Given the description of an element on the screen output the (x, y) to click on. 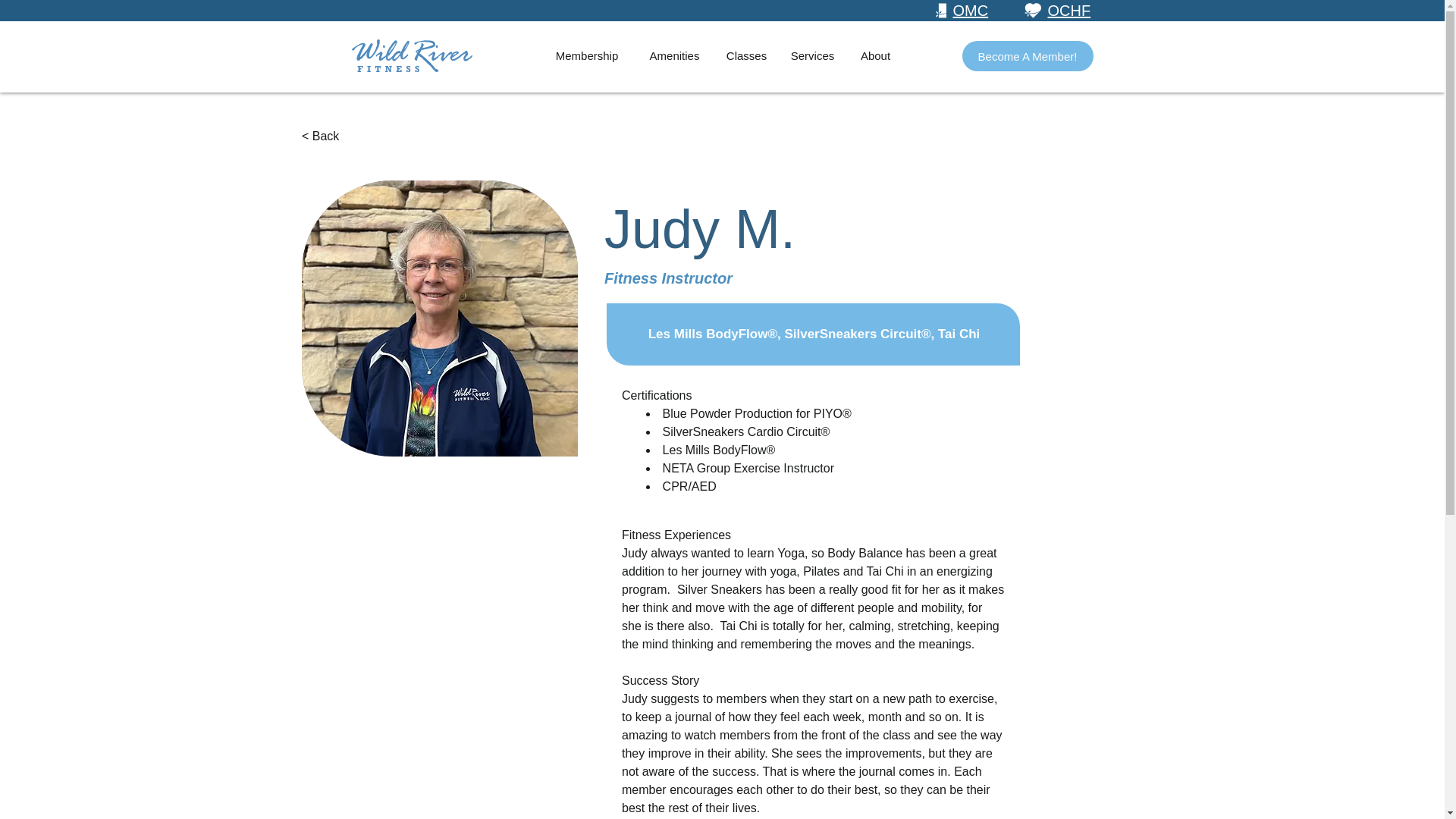
Become A Member! (1026, 55)
Services (811, 55)
Judy Measner.jpg (439, 318)
About (874, 55)
Membership (587, 55)
OCHF (1069, 10)
OMC (970, 10)
Amenities (673, 55)
